Given the description of an element on the screen output the (x, y) to click on. 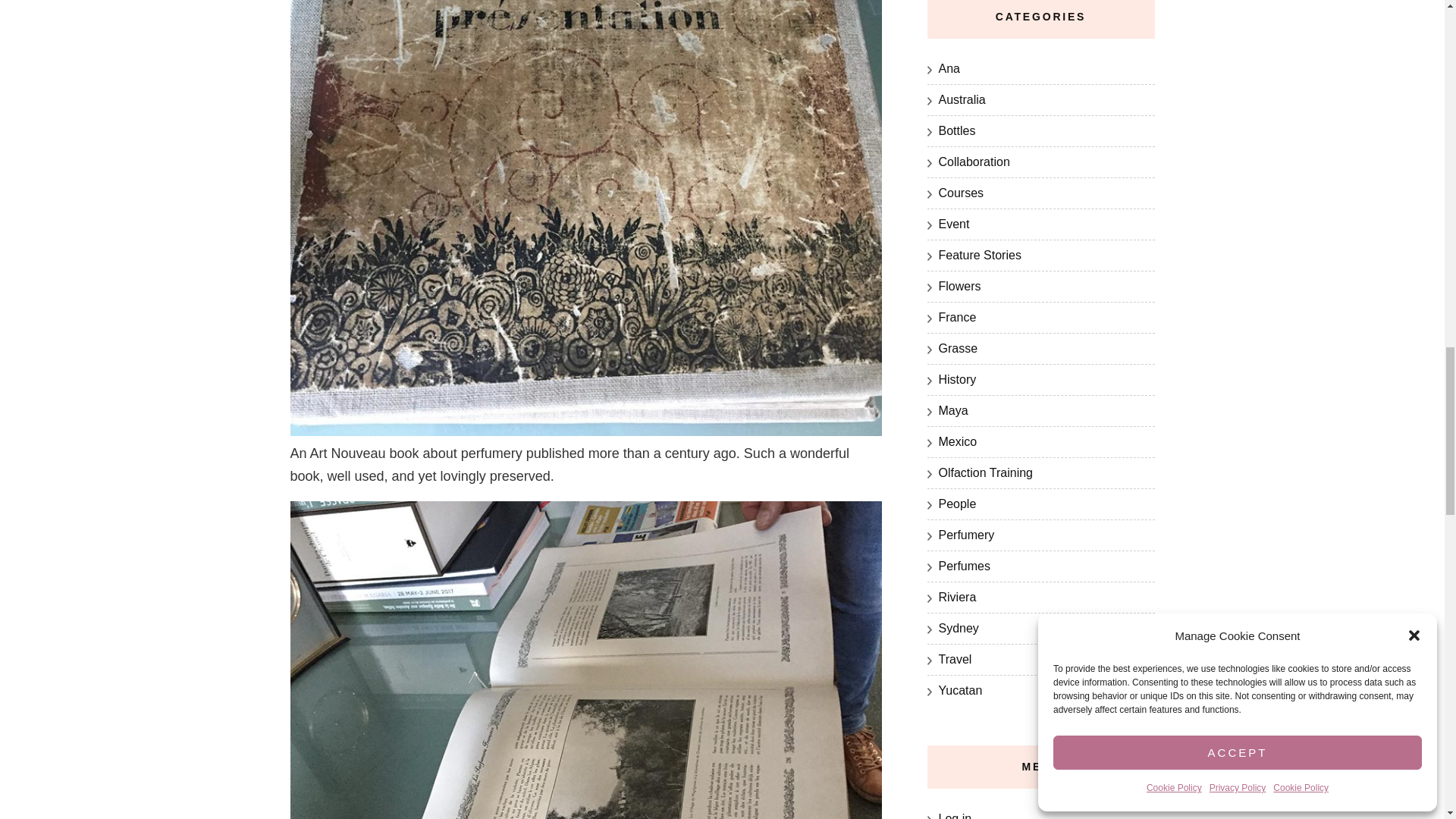
All about Ana's Perfume creations (964, 565)
